Given the description of an element on the screen output the (x, y) to click on. 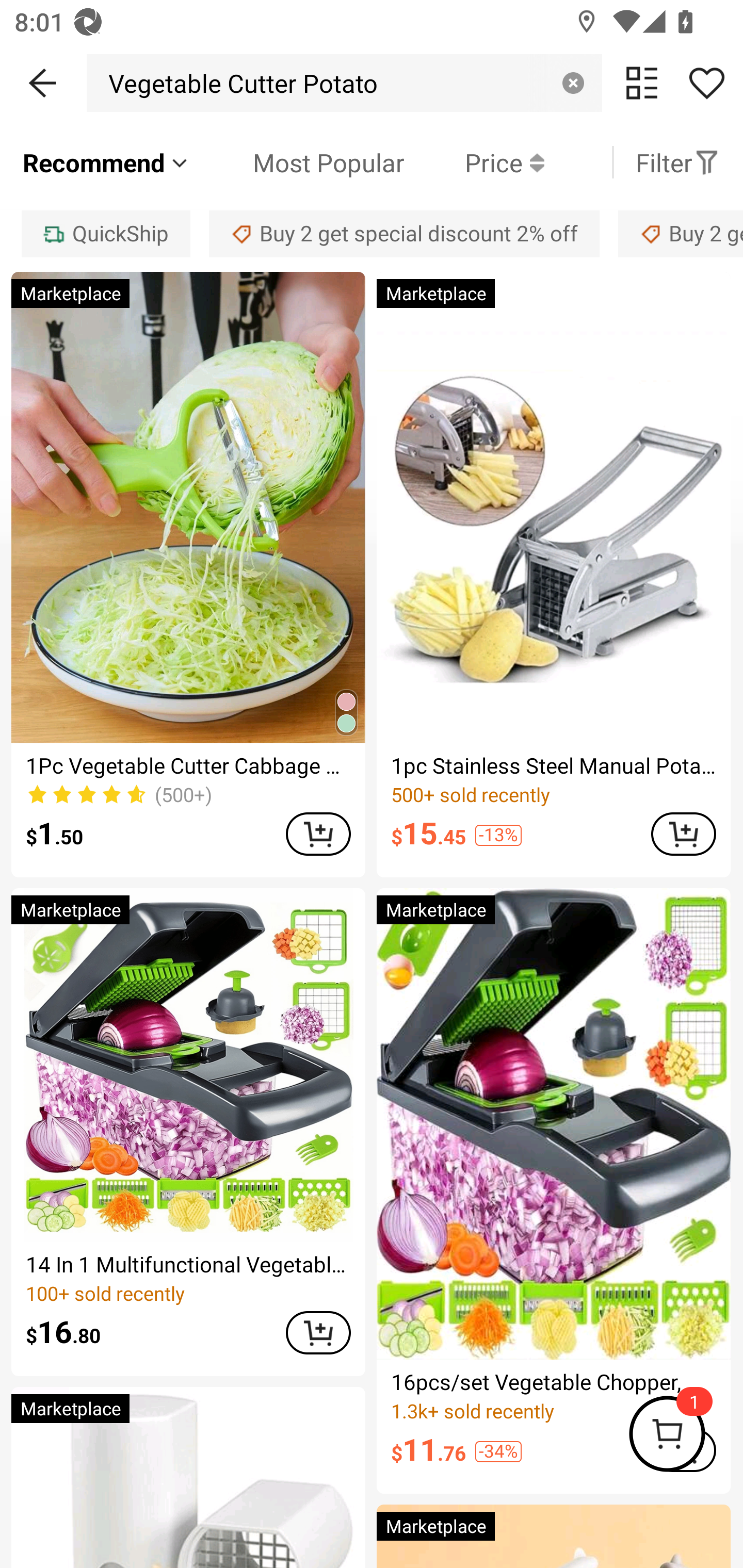
Vegetable Cutter Potato (237, 82)
Clear (572, 82)
change view (641, 82)
Share (706, 82)
Recommend (106, 162)
Most Popular (297, 162)
Price (474, 162)
Filter (677, 162)
QuickShip (105, 233)
Buy 2 get special discount 2% off (403, 233)
Buy 2 get special discount 5% off (680, 233)
ADD TO CART (318, 834)
ADD TO CART (683, 834)
ADD TO CART (318, 1332)
